Given the description of an element on the screen output the (x, y) to click on. 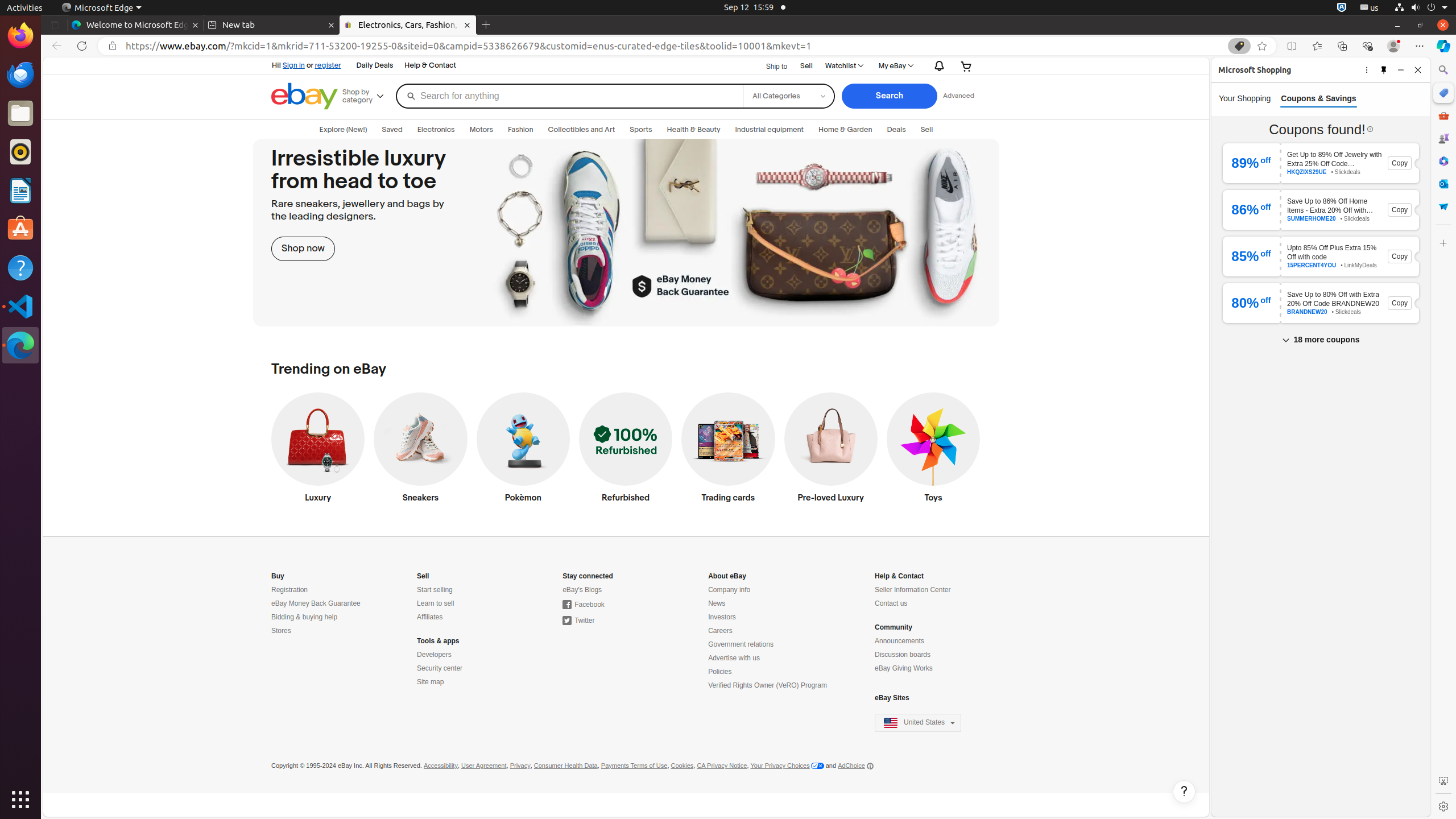
Health & Beauty Element type: link (693, 129)
Search for anything Element type: combo-box (568, 95)
86 % off Save Up to 86% Off Home Items - Extra 20% Off with SUMMERHOME20 Code SUMMERHOME20 • Slickdeals Copy Element type: push-button (1320, 209)
Policies Element type: link (719, 671)
eBay Giving Works Element type: link (903, 668)
